Given the description of an element on the screen output the (x, y) to click on. 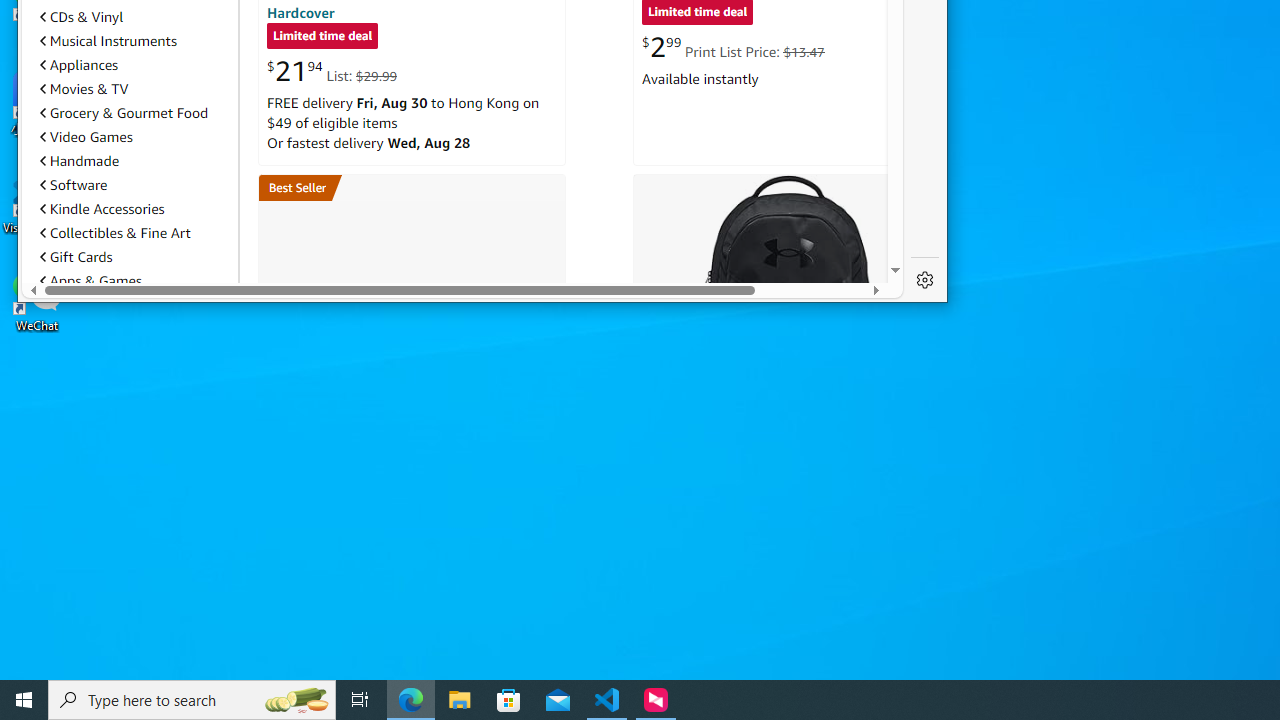
Software (135, 184)
$2.99 Print List Price: $13.47 (733, 46)
Start (24, 699)
Gift Cards (135, 256)
Video Games (135, 136)
Search highlights icon opens search home window (295, 699)
Microsoft Store (509, 699)
Type here to search (191, 699)
Kindle Accessories (102, 209)
Appliances (135, 64)
Collectibles & Fine Art (135, 233)
Hardcover (301, 12)
